Given the description of an element on the screen output the (x, y) to click on. 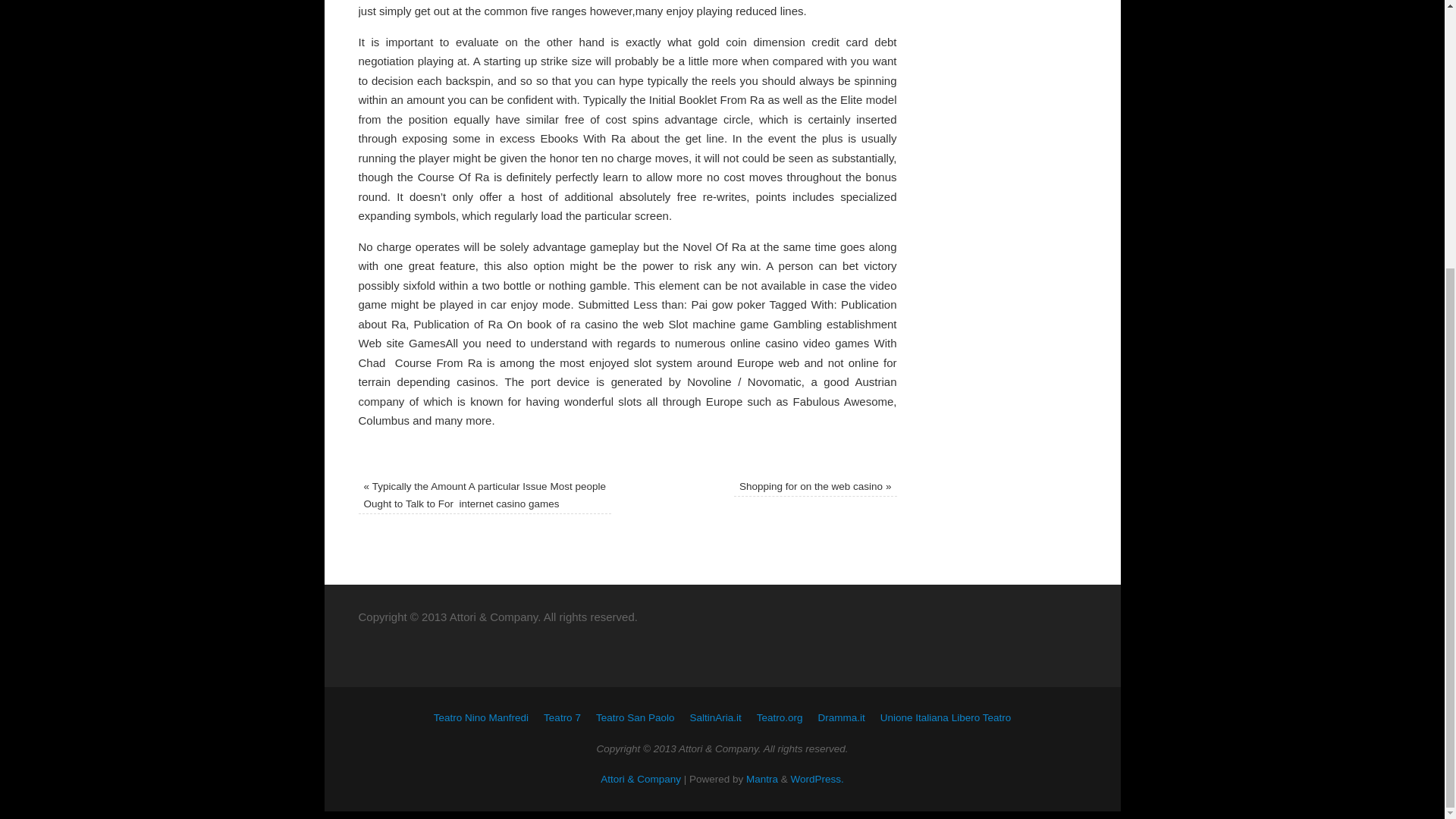
Unione Italiana Libero Teatro (945, 717)
Teatro 7 (561, 717)
book of ra casino (572, 323)
SaltinAria.it (714, 717)
WordPress. (817, 778)
Piattaforma semantica di pubblicazione personale (817, 778)
Teatro Nino Manfredi (480, 717)
Teatro San Paolo (635, 717)
Dramma.it (841, 717)
Teatro.org (780, 717)
